Given the description of an element on the screen output the (x, y) to click on. 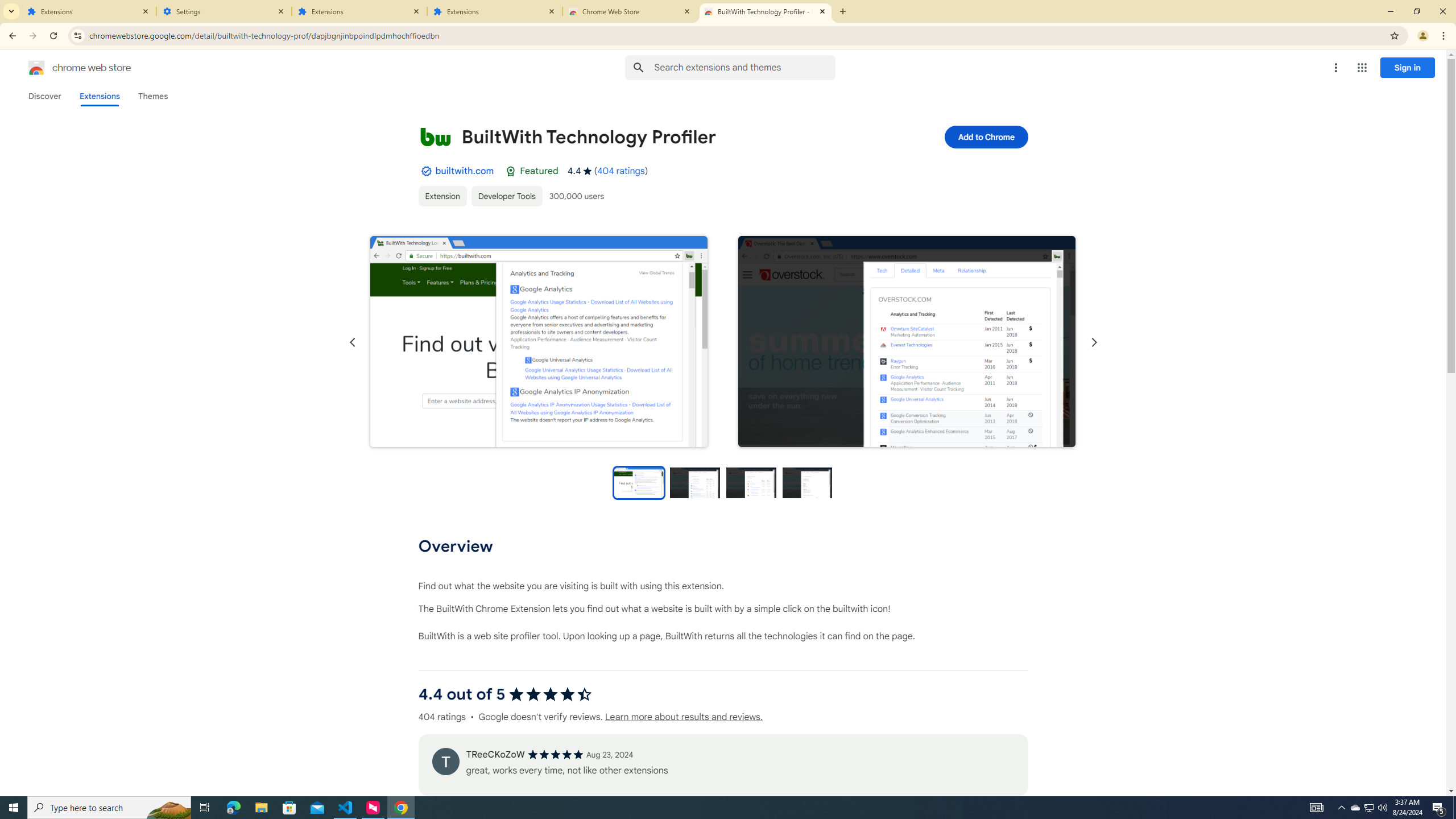
Extensions (99, 95)
Review's profile picture (445, 760)
Search input (744, 67)
5 out of 5 stars (555, 753)
Developer Tools (506, 195)
